Given the description of an element on the screen output the (x, y) to click on. 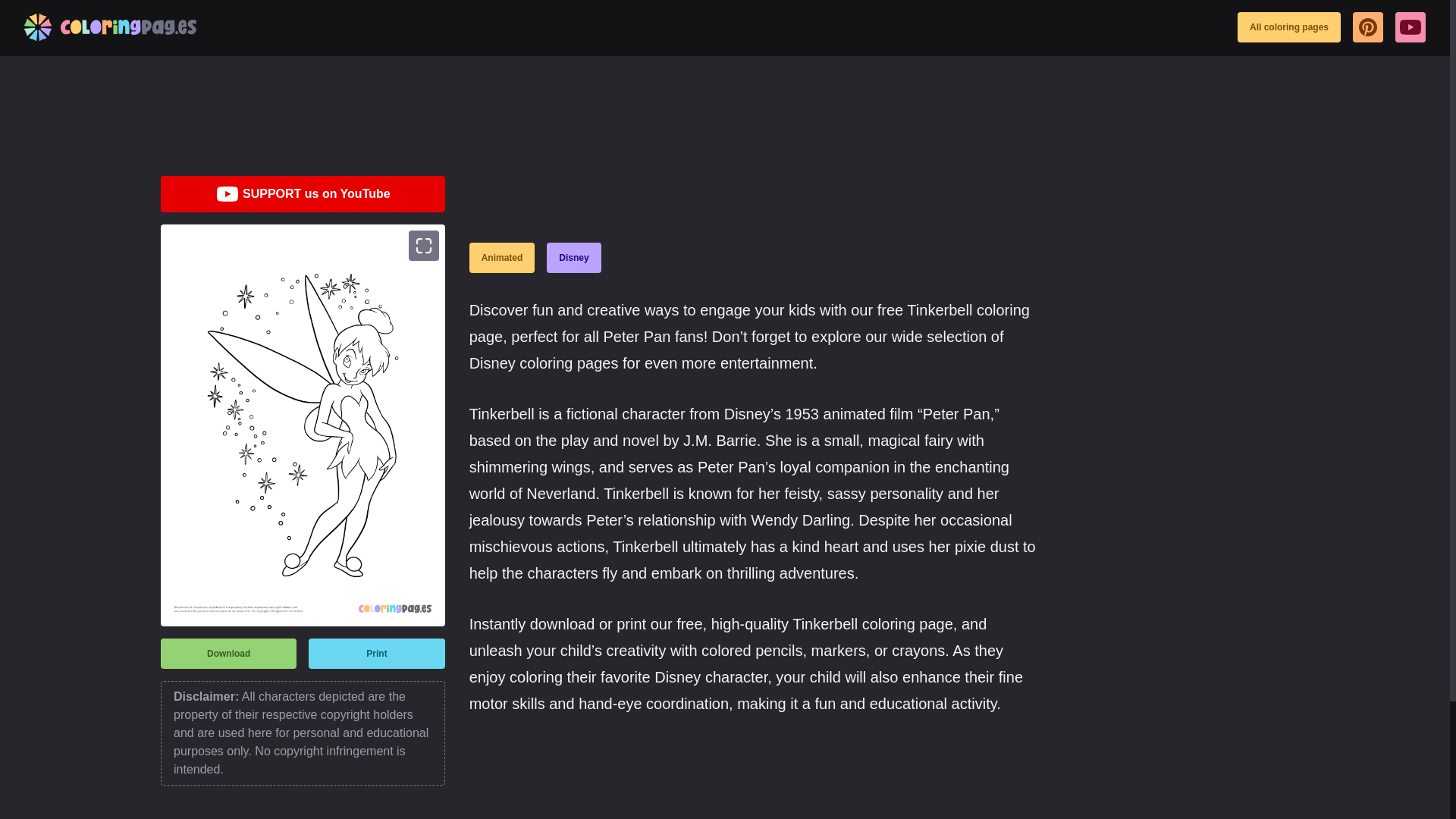
Animated (501, 257)
SUPPORT us on YouTube (302, 194)
Disney (573, 257)
Download (228, 653)
All coloring pages (1288, 27)
